Given the description of an element on the screen output the (x, y) to click on. 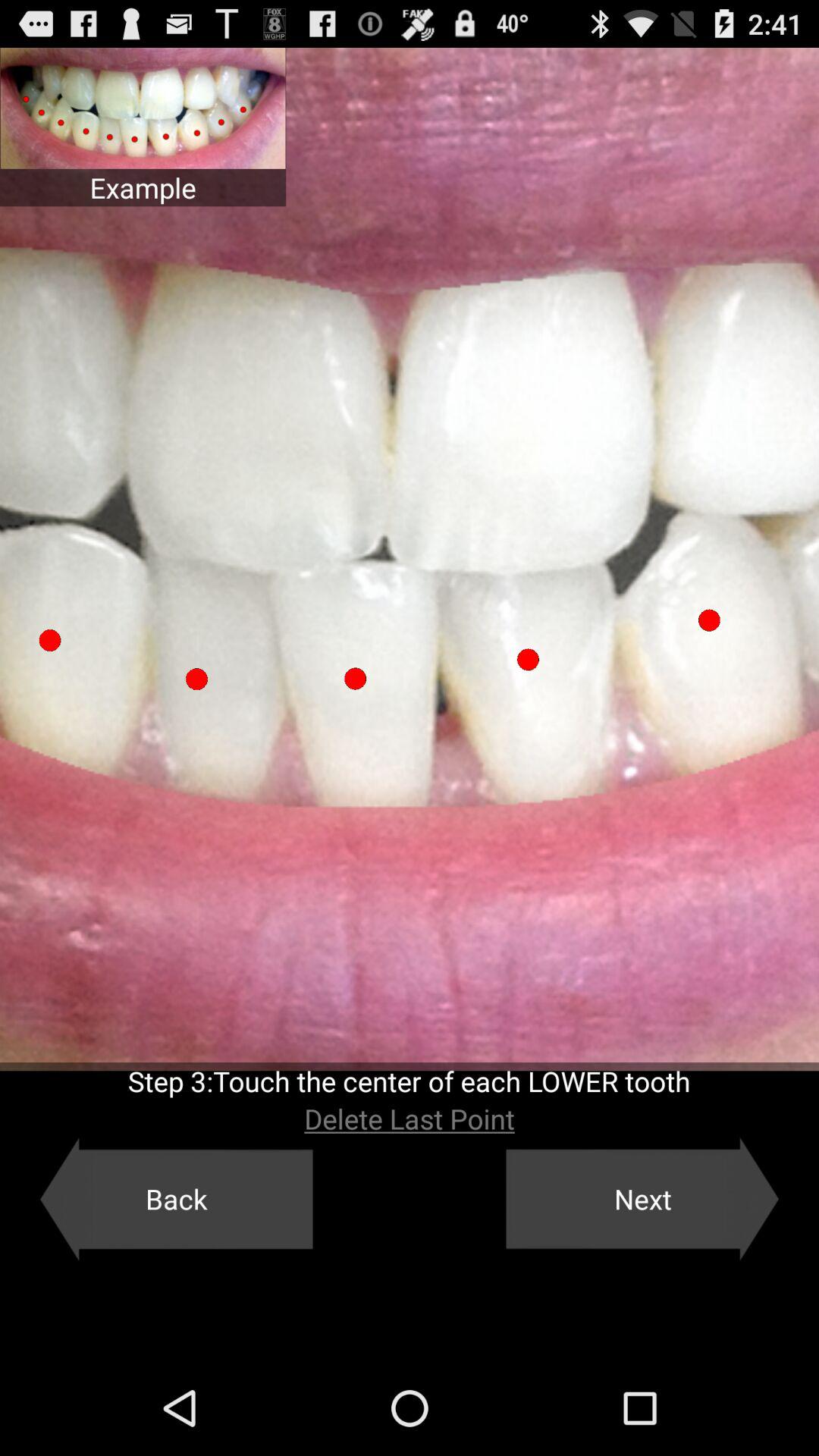
swipe until the next button (642, 1198)
